Given the description of an element on the screen output the (x, y) to click on. 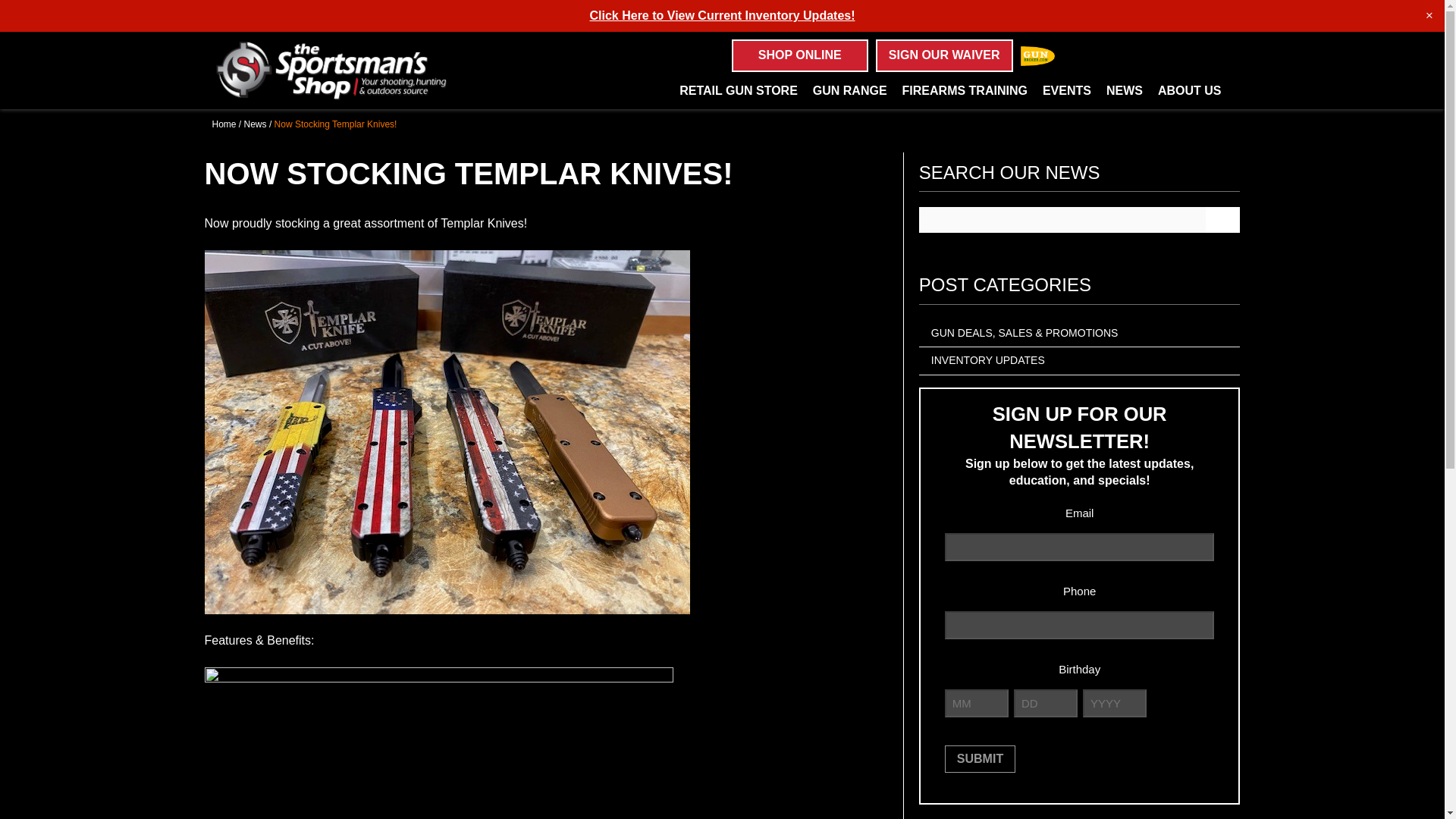
SIGN OUR WAIVER (944, 55)
Search for: (288, 8)
Search for: (1062, 219)
GUN RANGE (850, 90)
EVENTS (1066, 90)
Search for: (1144, 55)
Click Here to View Current Inventory Updates! (721, 15)
ABOUT US (1189, 90)
FIREARMS TRAINING (964, 90)
Submit (979, 759)
